Given the description of an element on the screen output the (x, y) to click on. 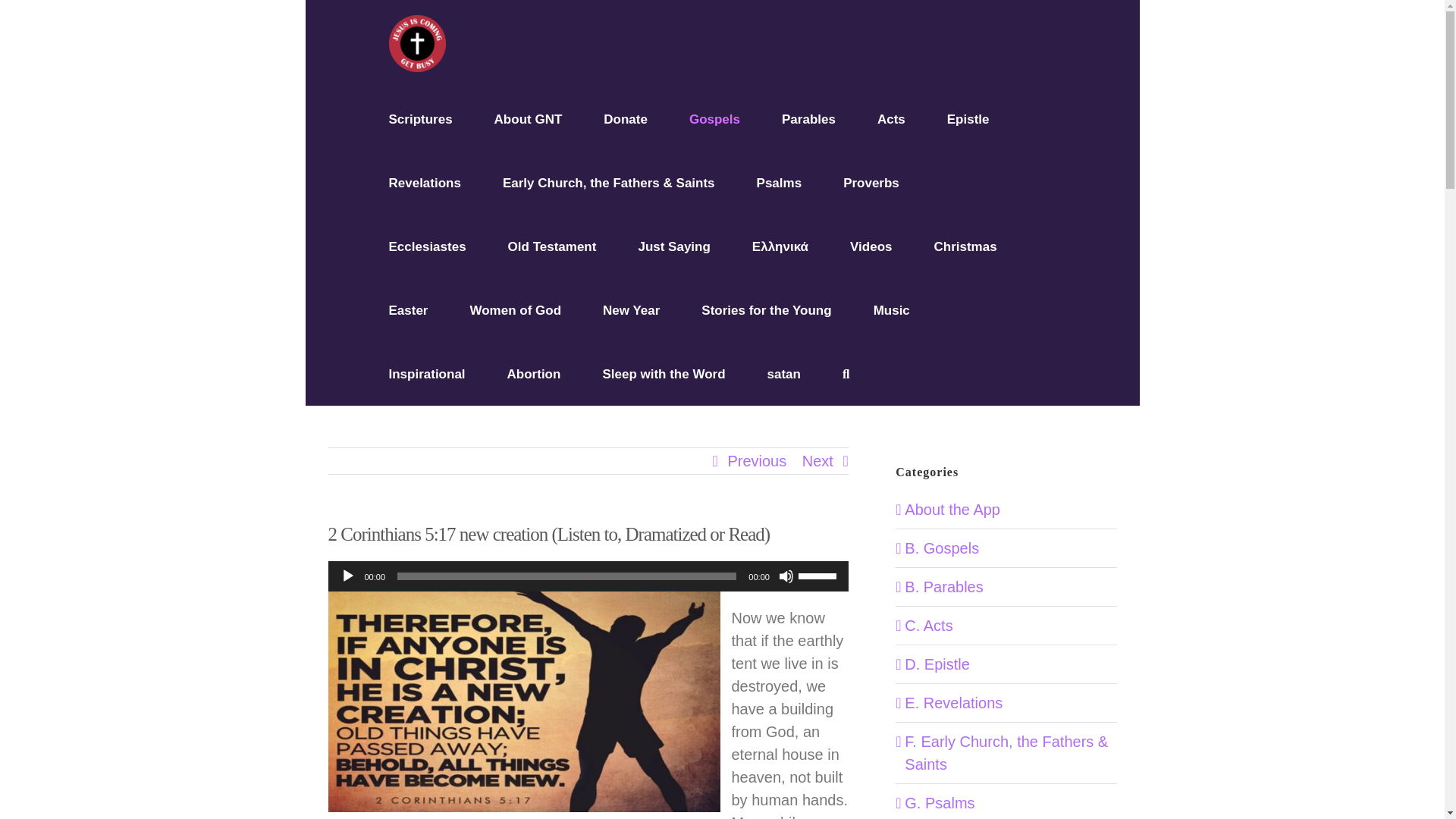
Sleep with the Word (663, 373)
Ecclesiastes (426, 246)
Revelations (424, 182)
Inspirational (426, 373)
Mute (785, 575)
Christmas (964, 246)
About GNT (528, 118)
Women of God (514, 310)
Stories for the Young (766, 310)
Scriptures (419, 118)
New Year (630, 310)
Just Saying (673, 246)
Old Testament (552, 246)
Play (347, 575)
